Given the description of an element on the screen output the (x, y) to click on. 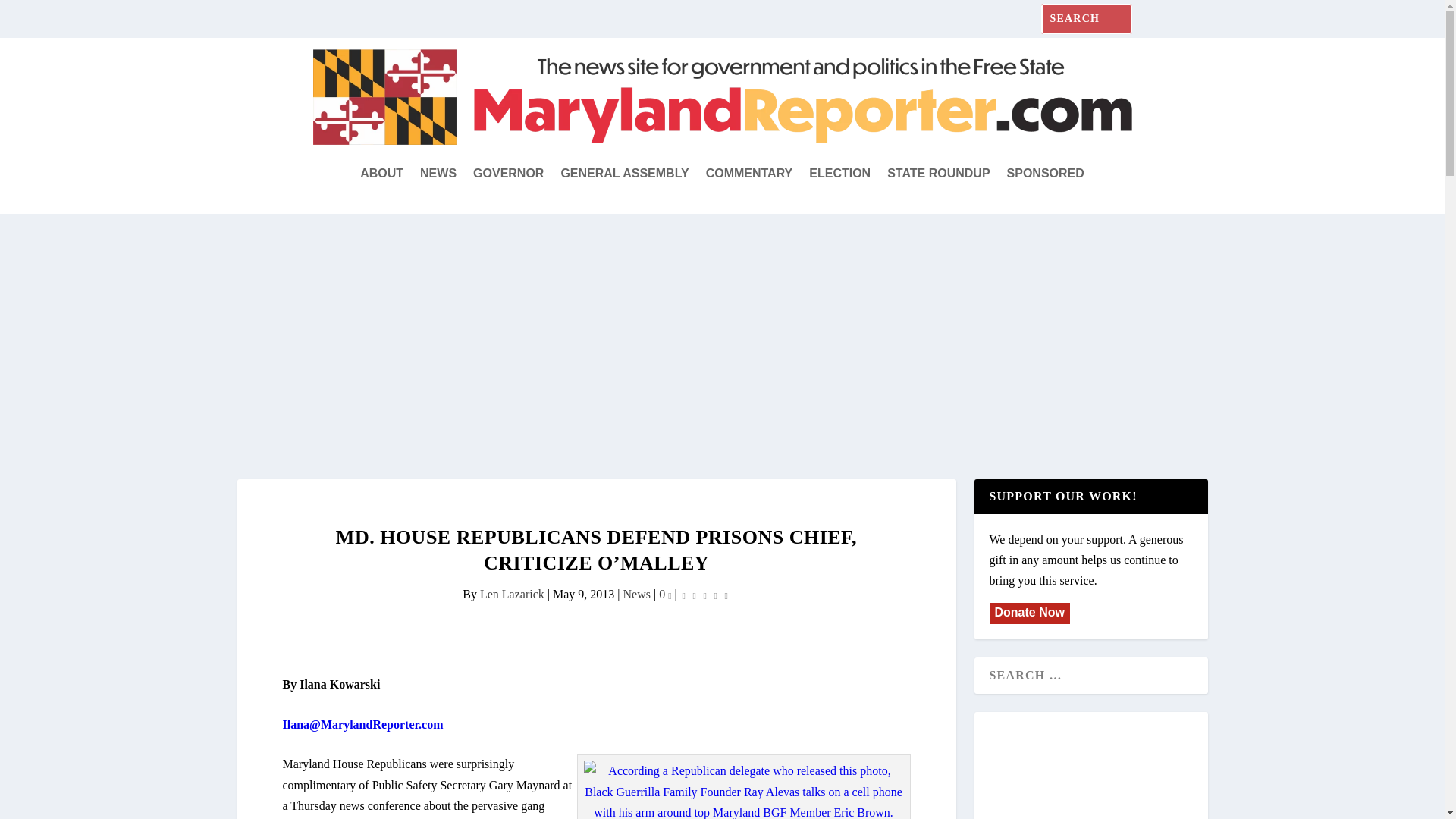
Search (34, 14)
Donate Now (1028, 612)
COMMENTARY (749, 173)
Len Lazarick (512, 594)
Posts by Len Lazarick (512, 594)
GENERAL ASSEMBLY (624, 173)
GOVERNOR (508, 173)
0 (665, 594)
Rating: 0.00 (704, 594)
Search (29, 15)
